Given the description of an element on the screen output the (x, y) to click on. 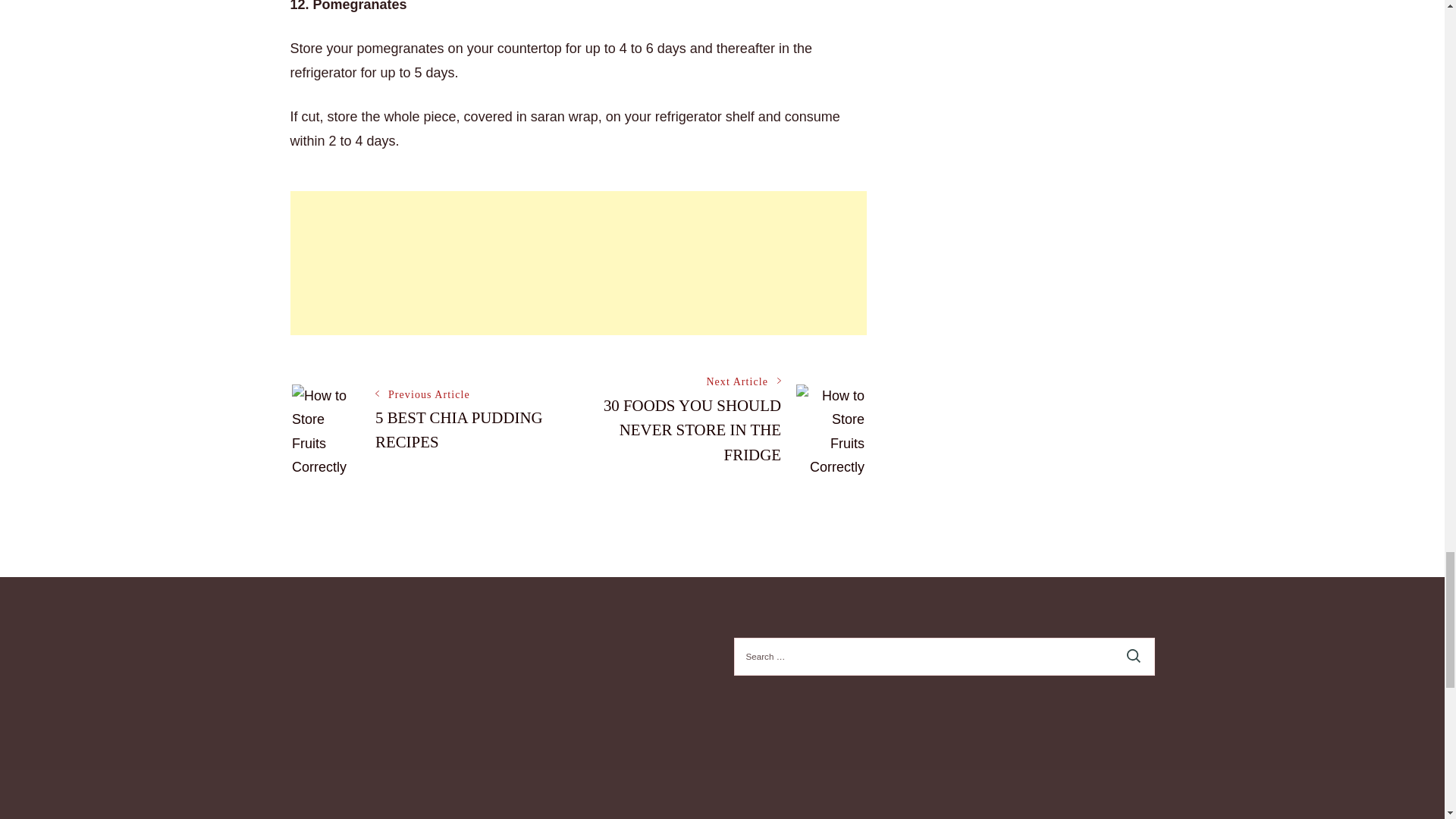
Search (1133, 656)
Search (1133, 656)
